Given the description of an element on the screen output the (x, y) to click on. 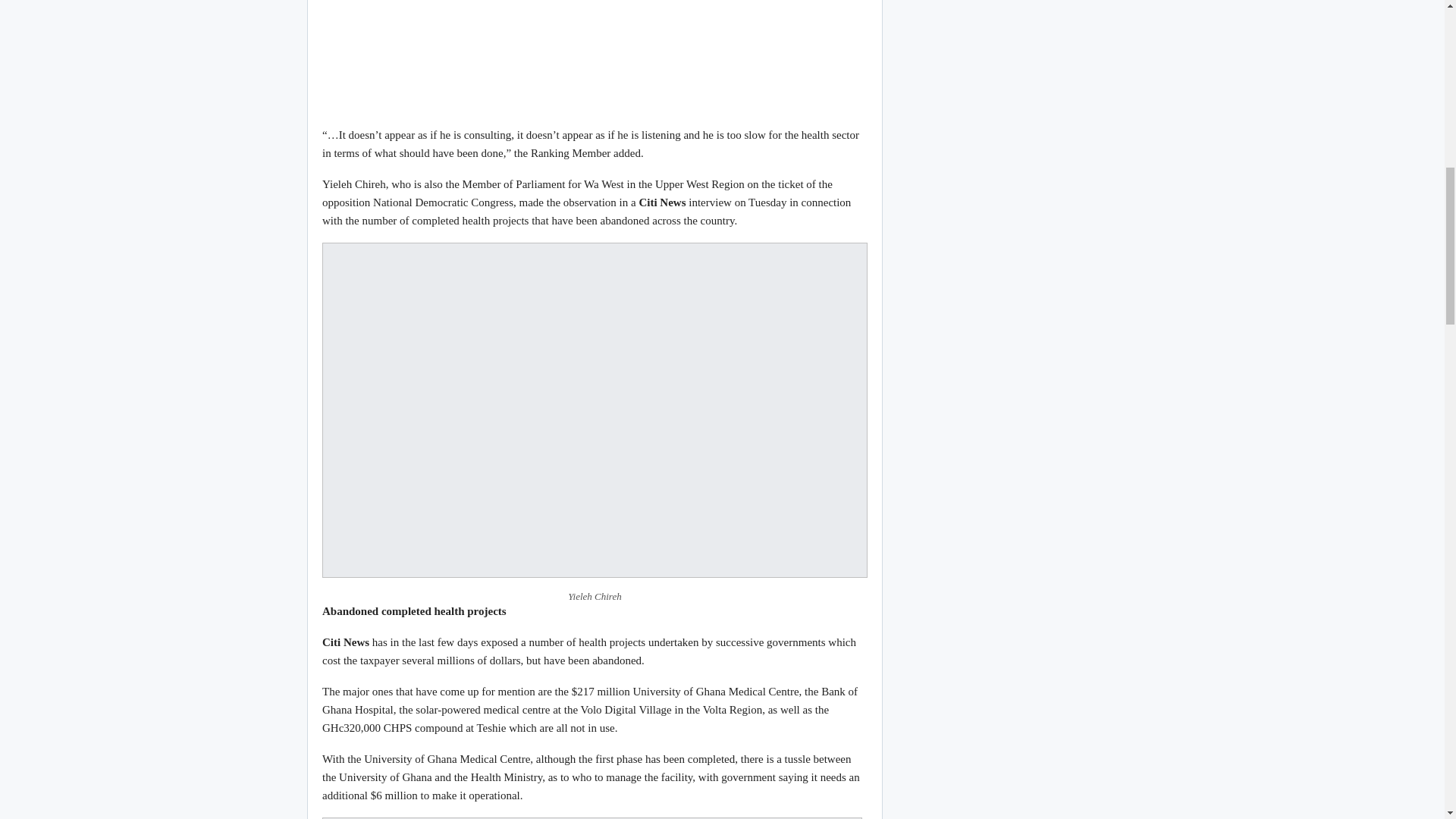
Advertisement (594, 55)
